Given the description of an element on the screen output the (x, y) to click on. 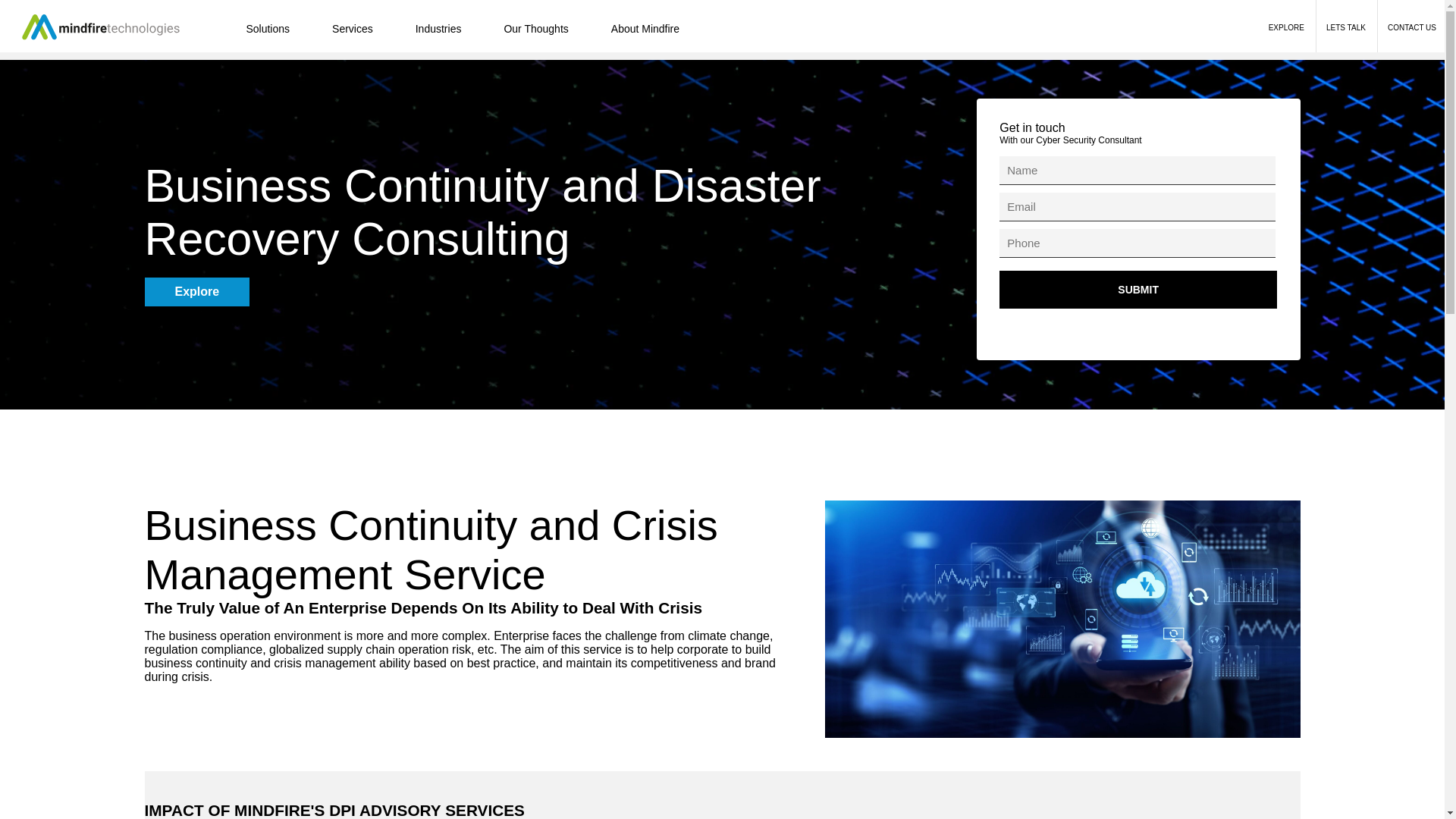
Industries (438, 28)
Explore (196, 294)
LETS TALK (1345, 27)
Our Thoughts (534, 28)
Solutions (266, 28)
About Mindfire (644, 28)
Services (352, 28)
EXPLORE (1286, 27)
Submit (1137, 289)
Submit (1137, 289)
